Given the description of an element on the screen output the (x, y) to click on. 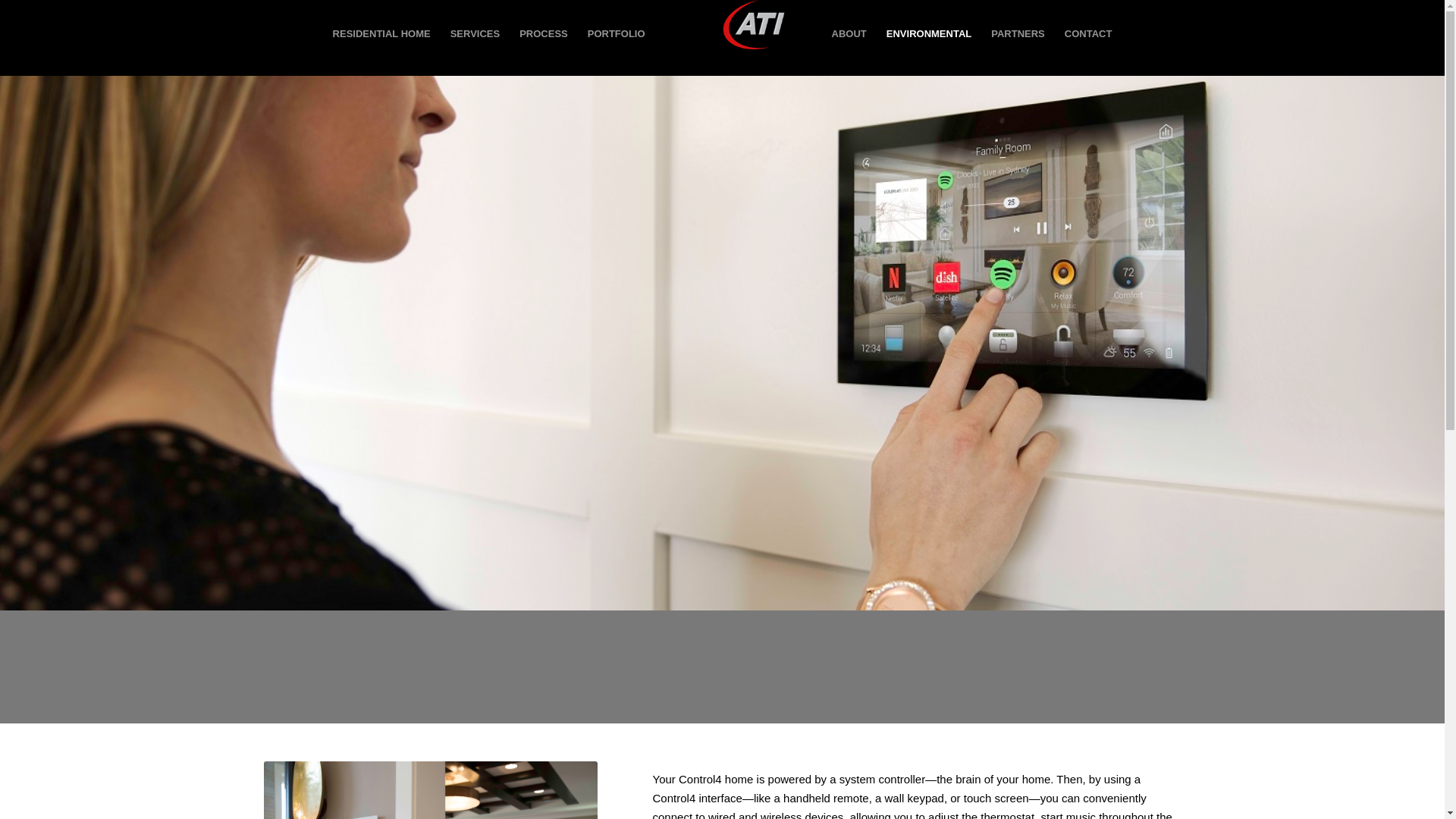
PARTNERS (1017, 34)
CONTACT (1088, 34)
PORTFOLIO (616, 34)
SERVICES (476, 34)
RESIDENTIAL HOME (382, 34)
PROCESS (543, 34)
ABOUT (849, 34)
ENVIRONMENTAL (928, 34)
